Given the description of an element on the screen output the (x, y) to click on. 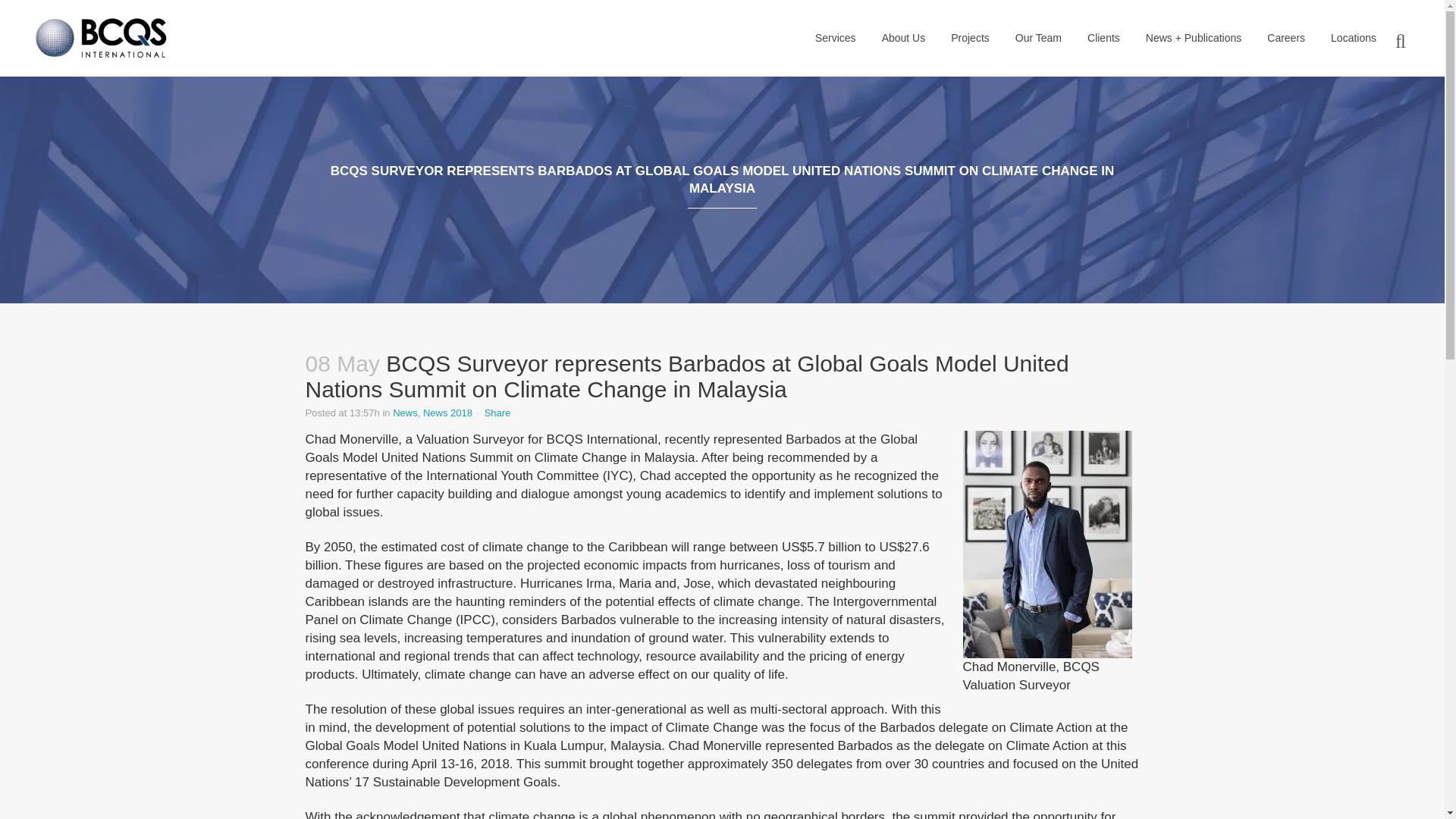
About Us (904, 38)
Our Team (1038, 38)
